Given the description of an element on the screen output the (x, y) to click on. 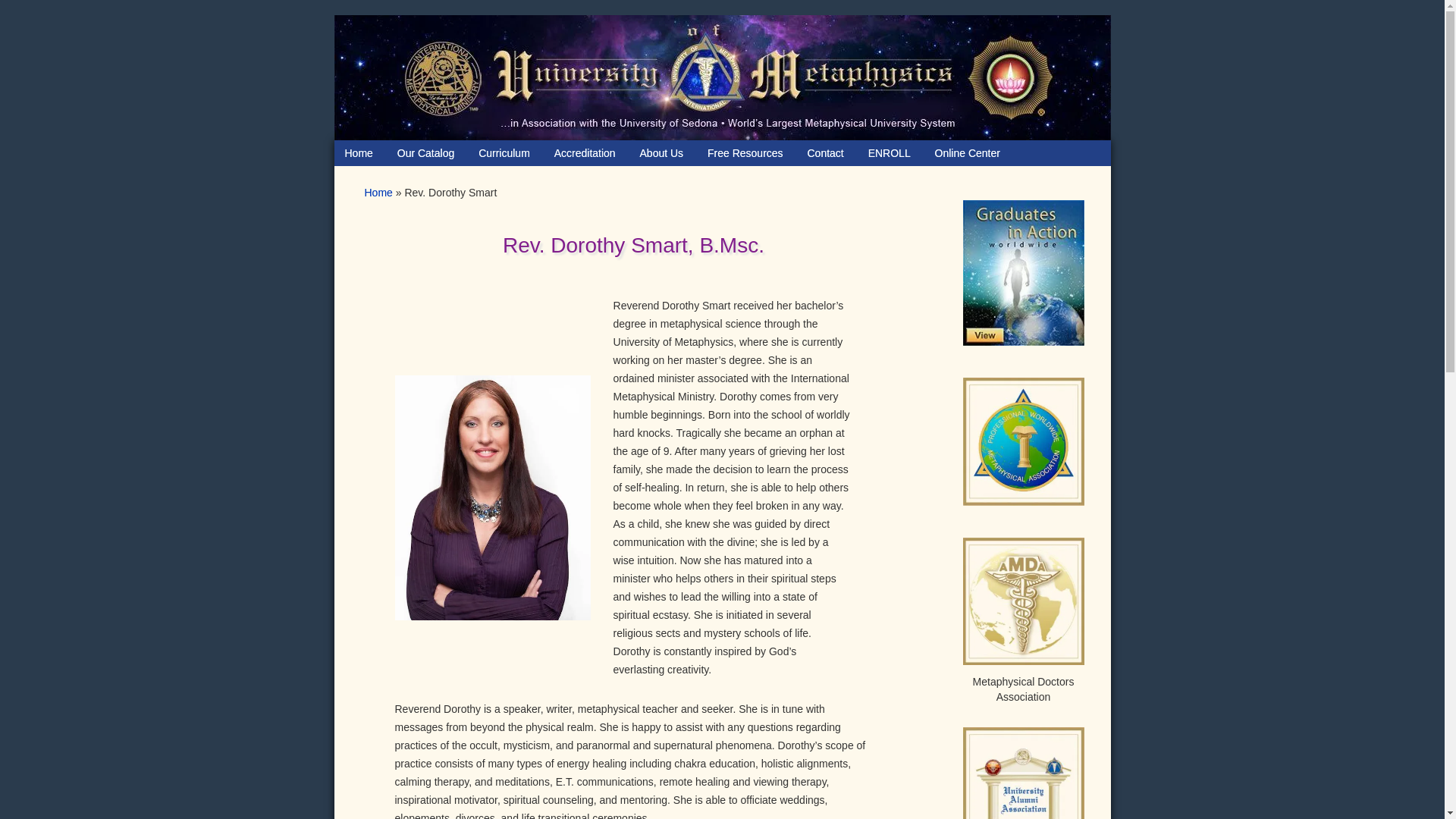
Contact (824, 153)
About Us (661, 153)
Home (357, 153)
ENROLL (889, 153)
Accreditation (584, 153)
Curriculum (503, 153)
Online Center (967, 153)
Our Catalog (425, 153)
Free Resources (745, 153)
